Given the description of an element on the screen output the (x, y) to click on. 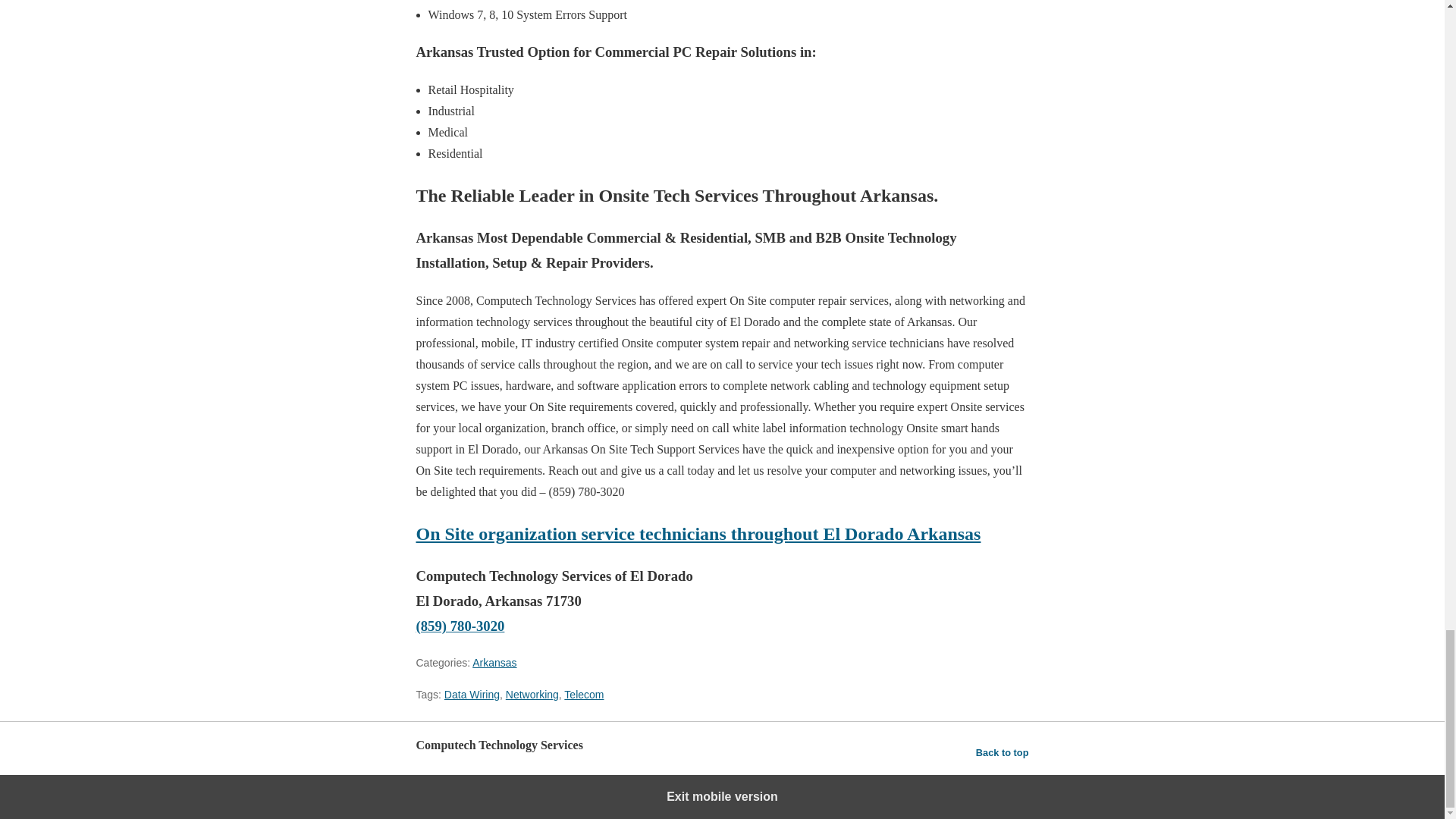
Arkansas (493, 662)
Telecom (584, 694)
Back to top (1002, 752)
Data Wiring (471, 694)
Networking (532, 694)
